Given the description of an element on the screen output the (x, y) to click on. 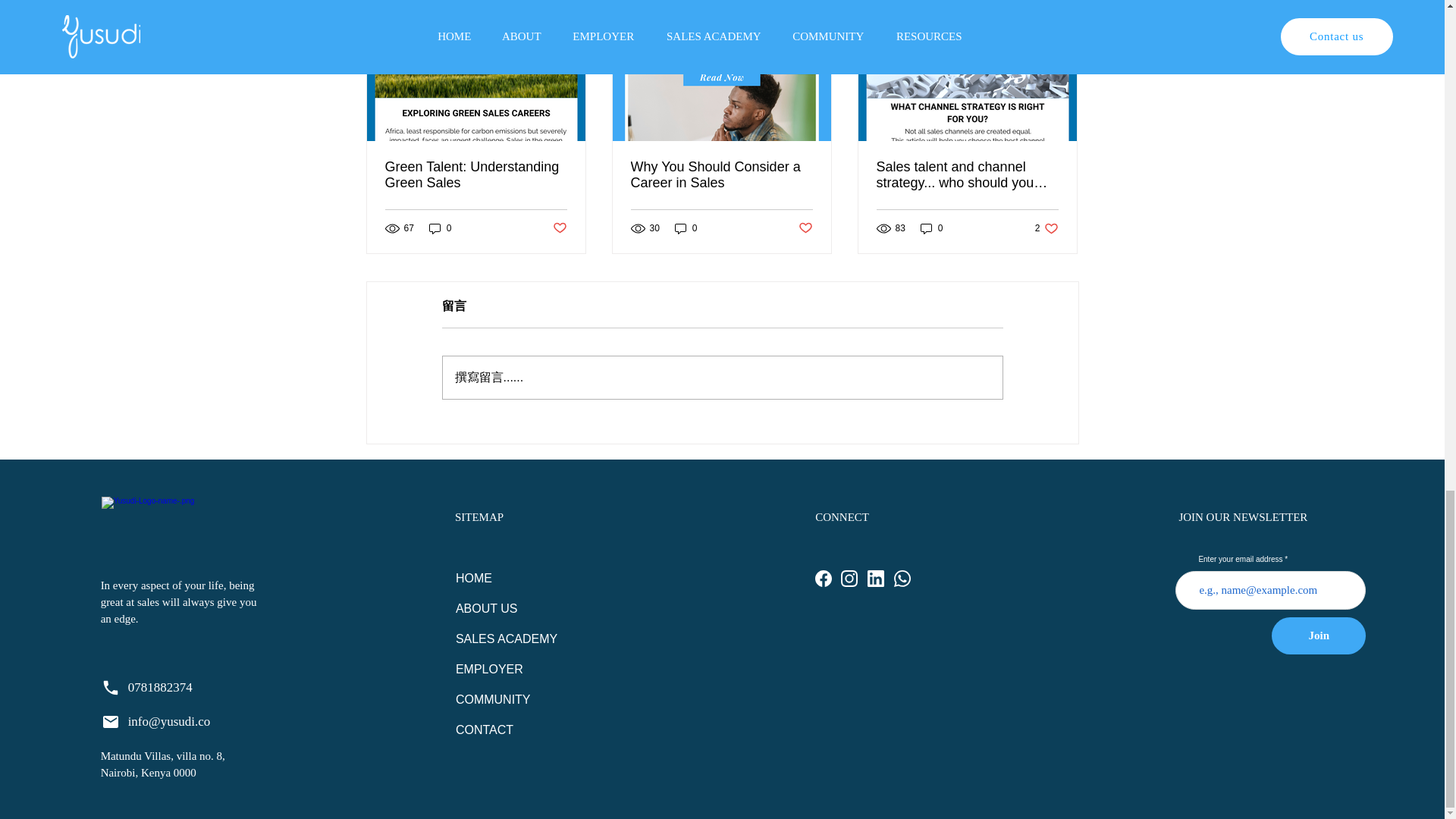
0 (440, 227)
Green Talent: Understanding Green Sales (476, 174)
Post not marked as liked (804, 228)
Post not marked as liked (558, 228)
0 (685, 227)
Why You Should Consider a Career in Sales (721, 174)
0 (931, 227)
See All (1046, 227)
